Given the description of an element on the screen output the (x, y) to click on. 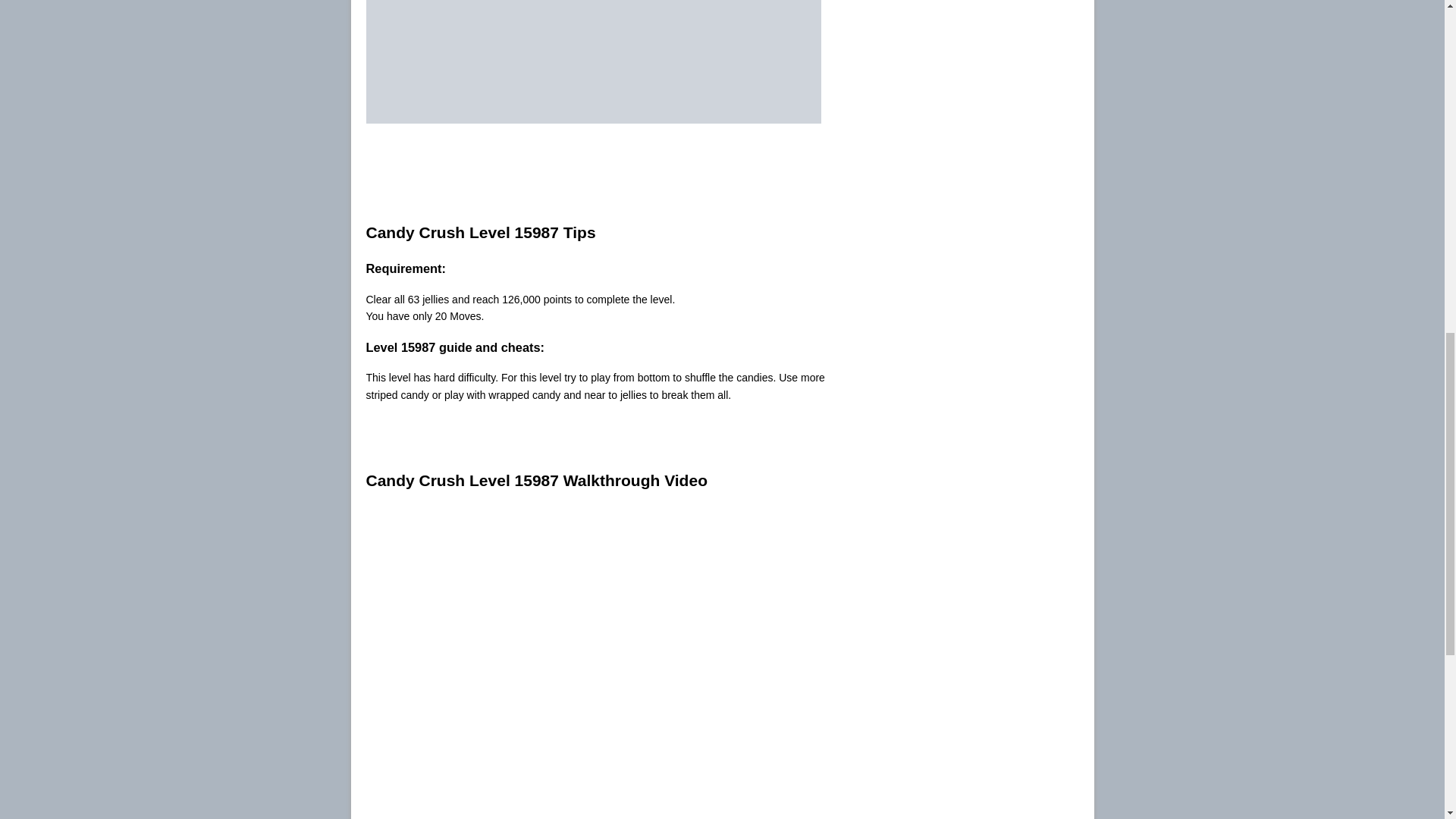
candy-crush-level-15987 (593, 61)
